Given the description of an element on the screen output the (x, y) to click on. 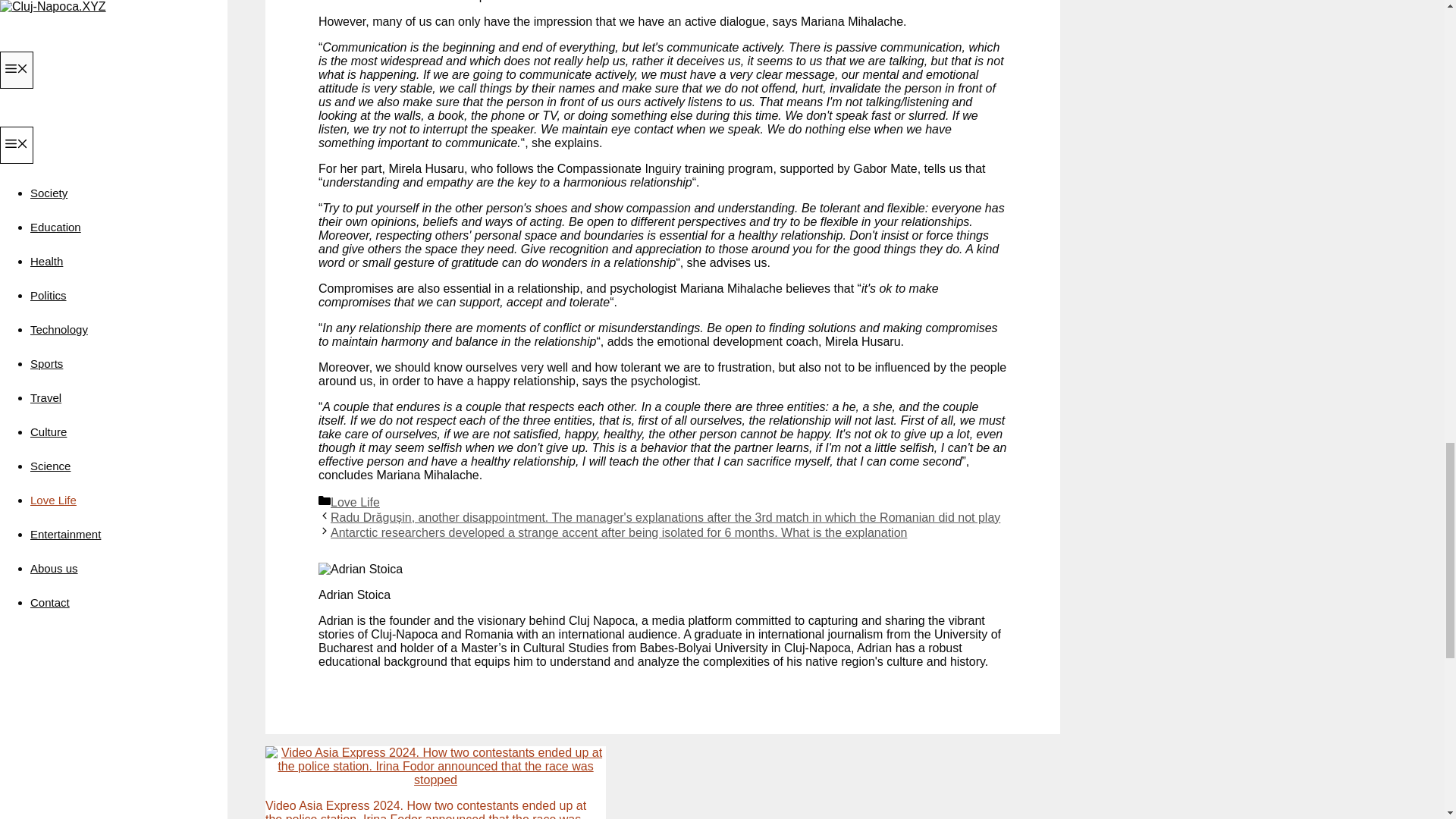
Love Life (355, 502)
